Given the description of an element on the screen output the (x, y) to click on. 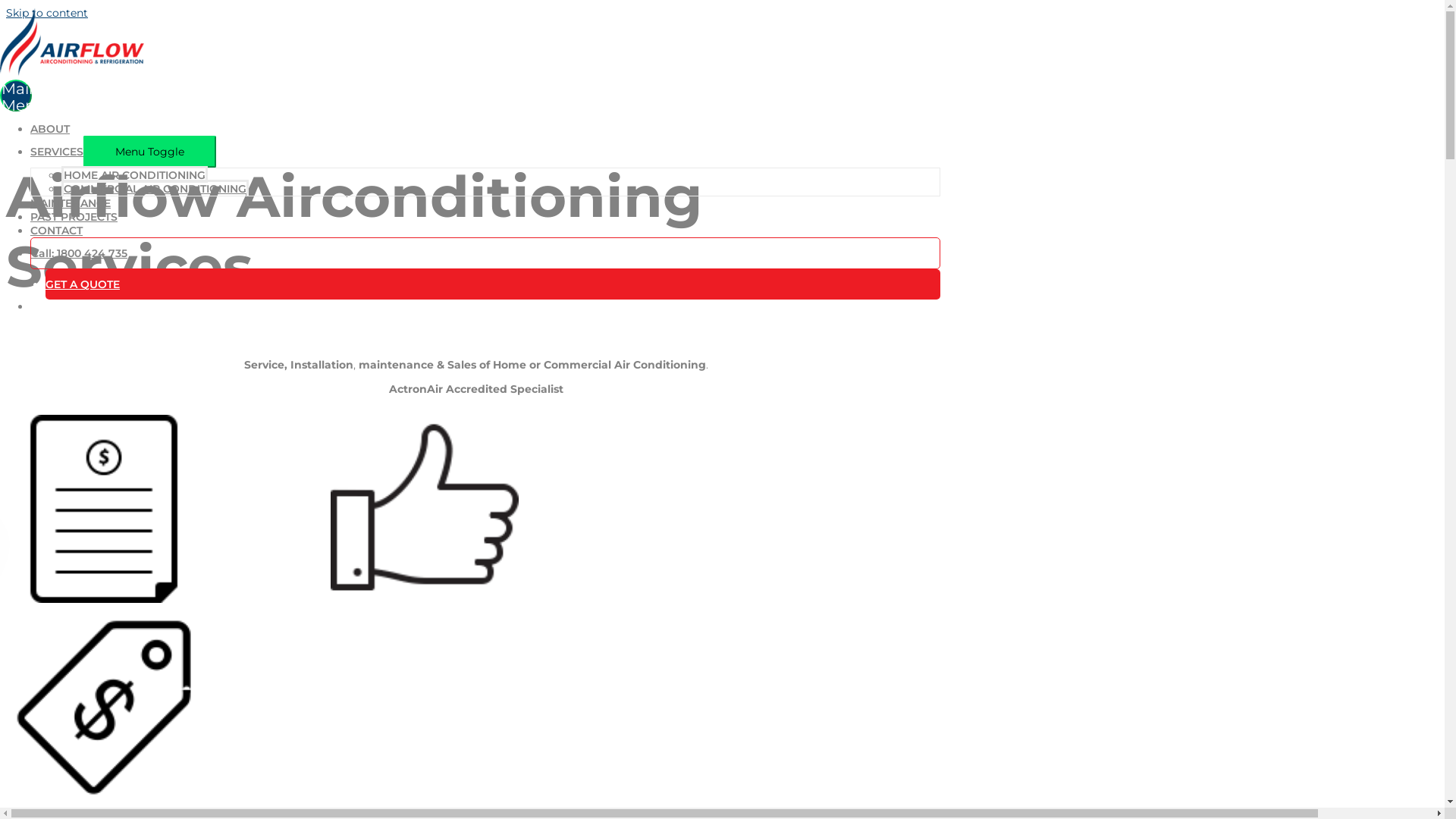
SERVICES Element type: text (56, 151)
MAINTENANCE Element type: text (70, 203)
ABOUT Element type: text (49, 128)
CONTACT Element type: text (56, 230)
Main Menu Element type: text (15, 95)
Menu Toggle Element type: text (149, 151)
GET A QUOTE Element type: text (82, 284)
HOME AIR CONDITIONING Element type: text (134, 174)
COMMERCIAL AIR CONDITIONING Element type: text (154, 187)
PAST PROJECTS Element type: text (73, 216)
Call: 1800 424 735 Element type: text (79, 253)
Skip to content Element type: text (46, 12)
